Given the description of an element on the screen output the (x, y) to click on. 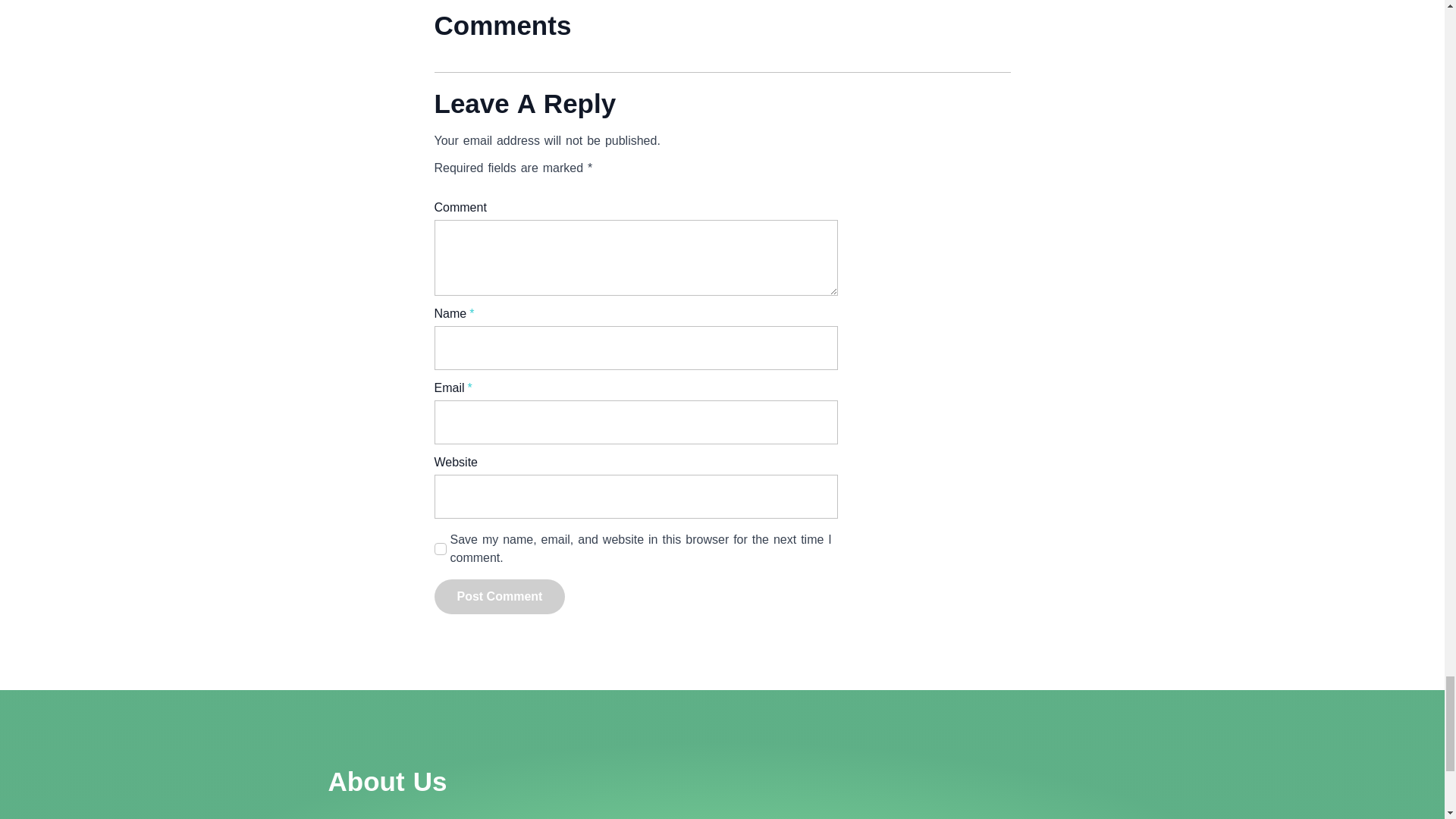
Post Comment (498, 596)
yes (439, 548)
Post Comment (498, 596)
